Given the description of an element on the screen output the (x, y) to click on. 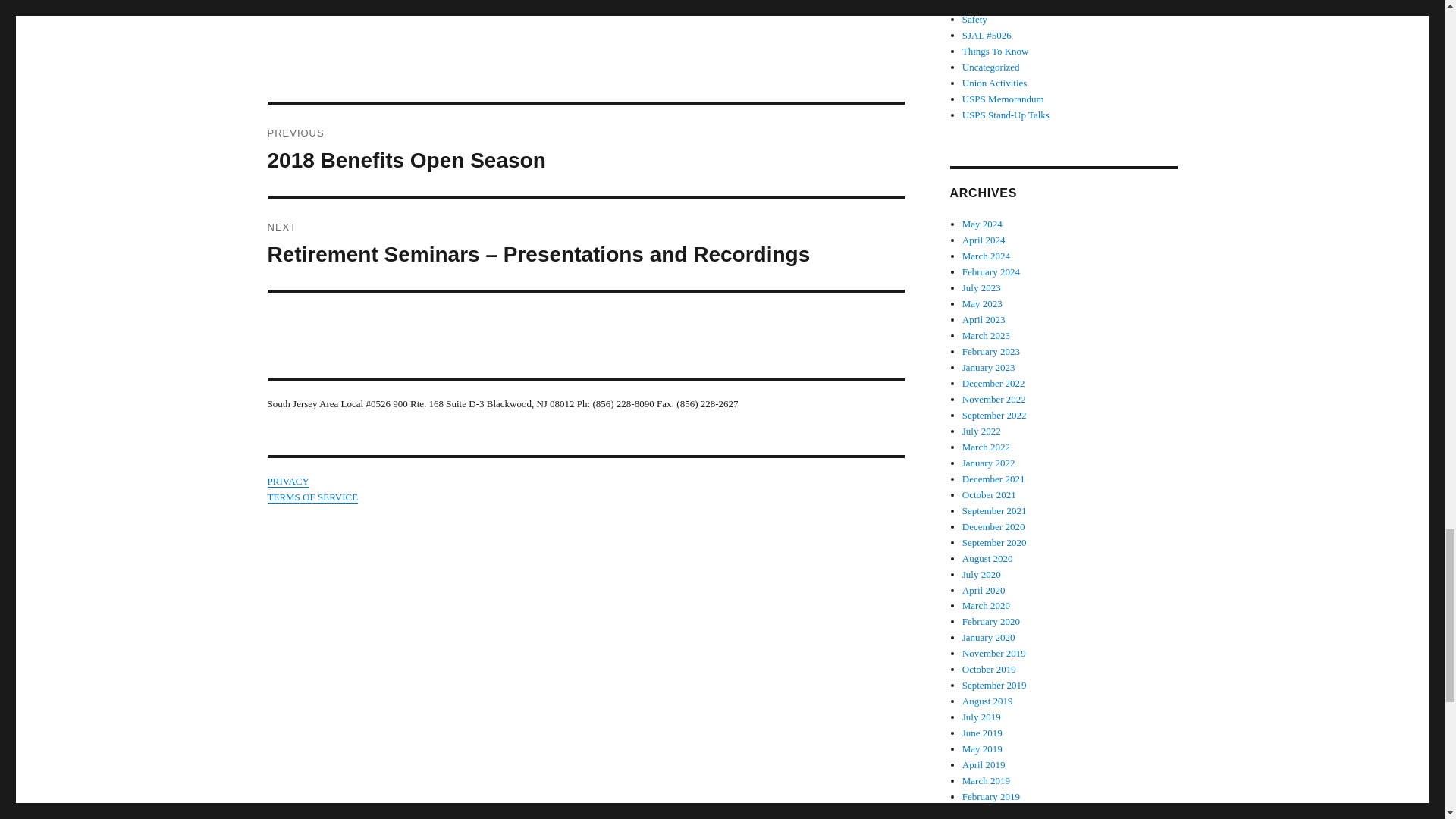
TERMS OF SERVICE (312, 496)
PRIVACY (287, 480)
Learn how your comment data is processed (585, 149)
